Given the description of an element on the screen output the (x, y) to click on. 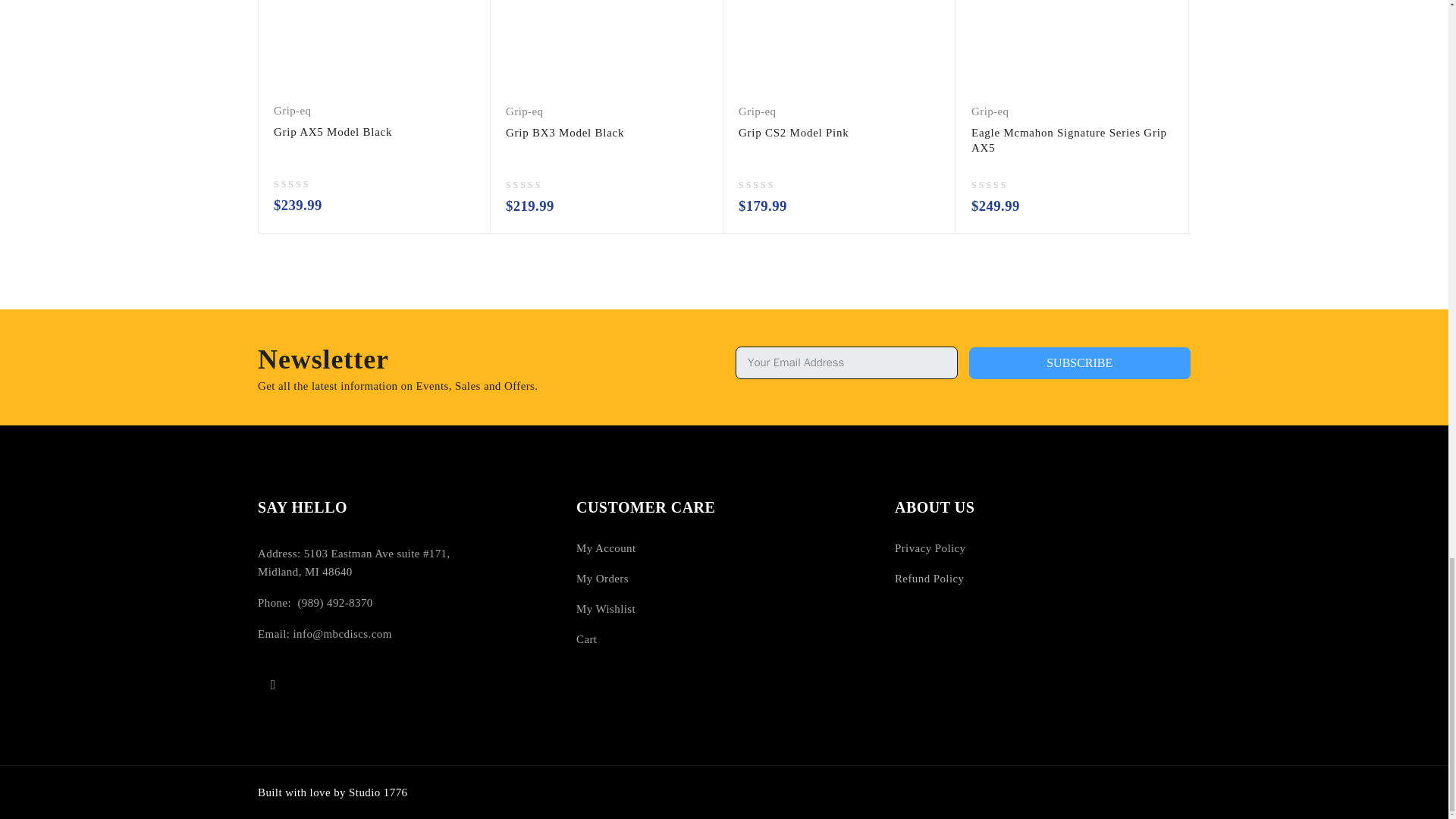
Become our fan (272, 684)
